Given the description of an element on the screen output the (x, y) to click on. 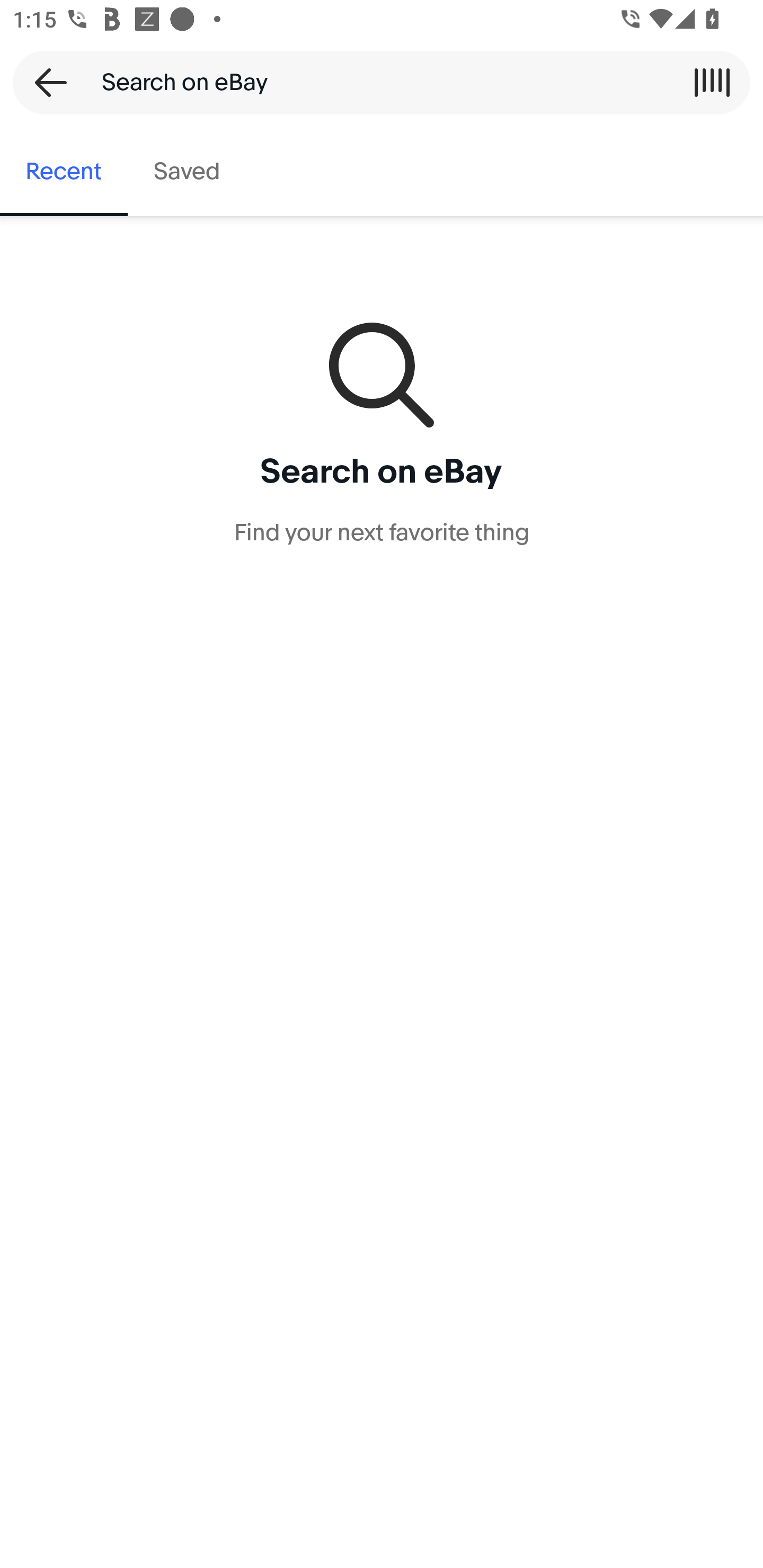
Back (44, 82)
Scan a barcode (711, 82)
Search on eBay (375, 82)
Saved, tab 2 of 2 Saved (186, 171)
